Given the description of an element on the screen output the (x, y) to click on. 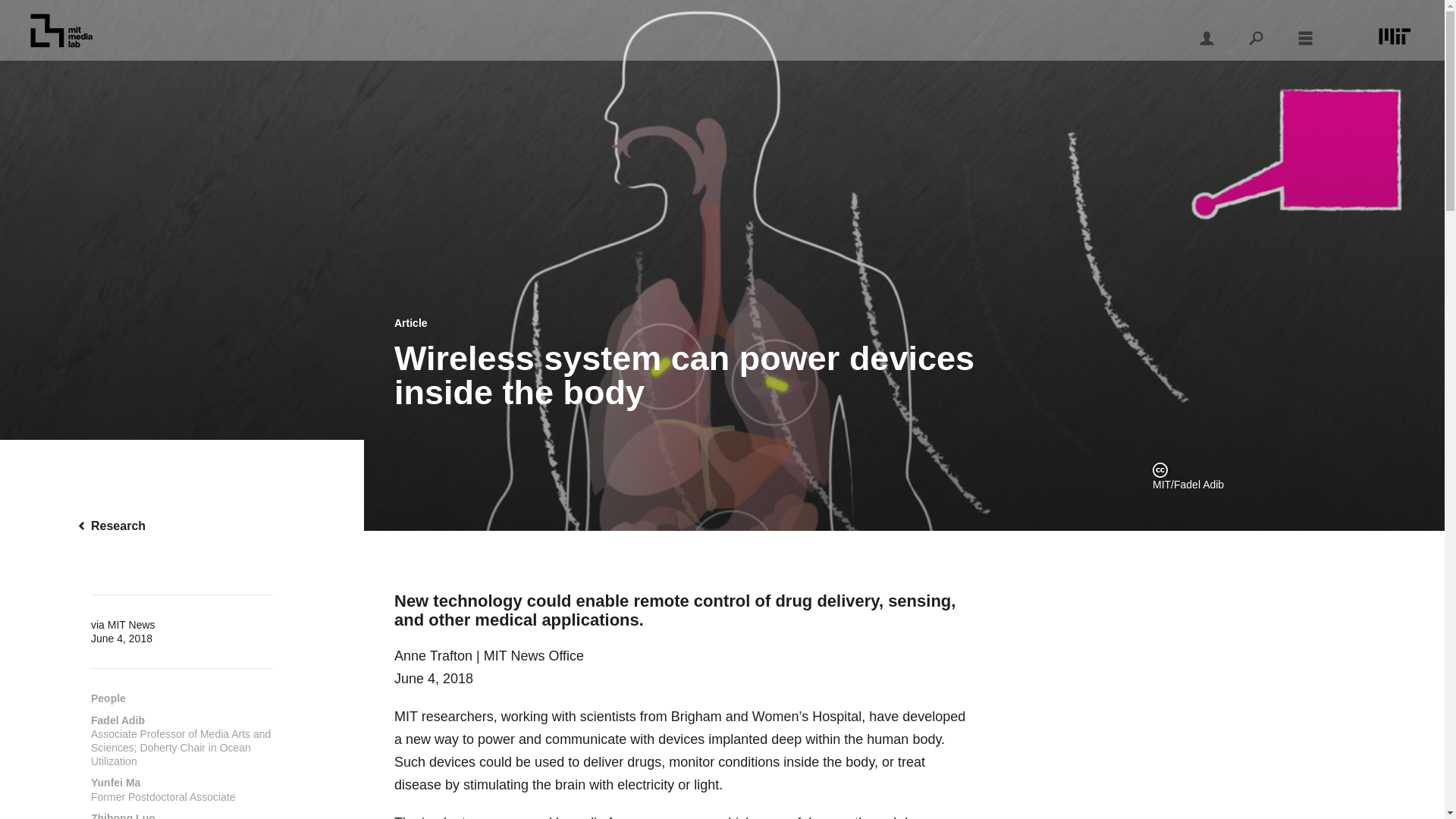
MIT News (181, 815)
Research (131, 624)
